Given the description of an element on the screen output the (x, y) to click on. 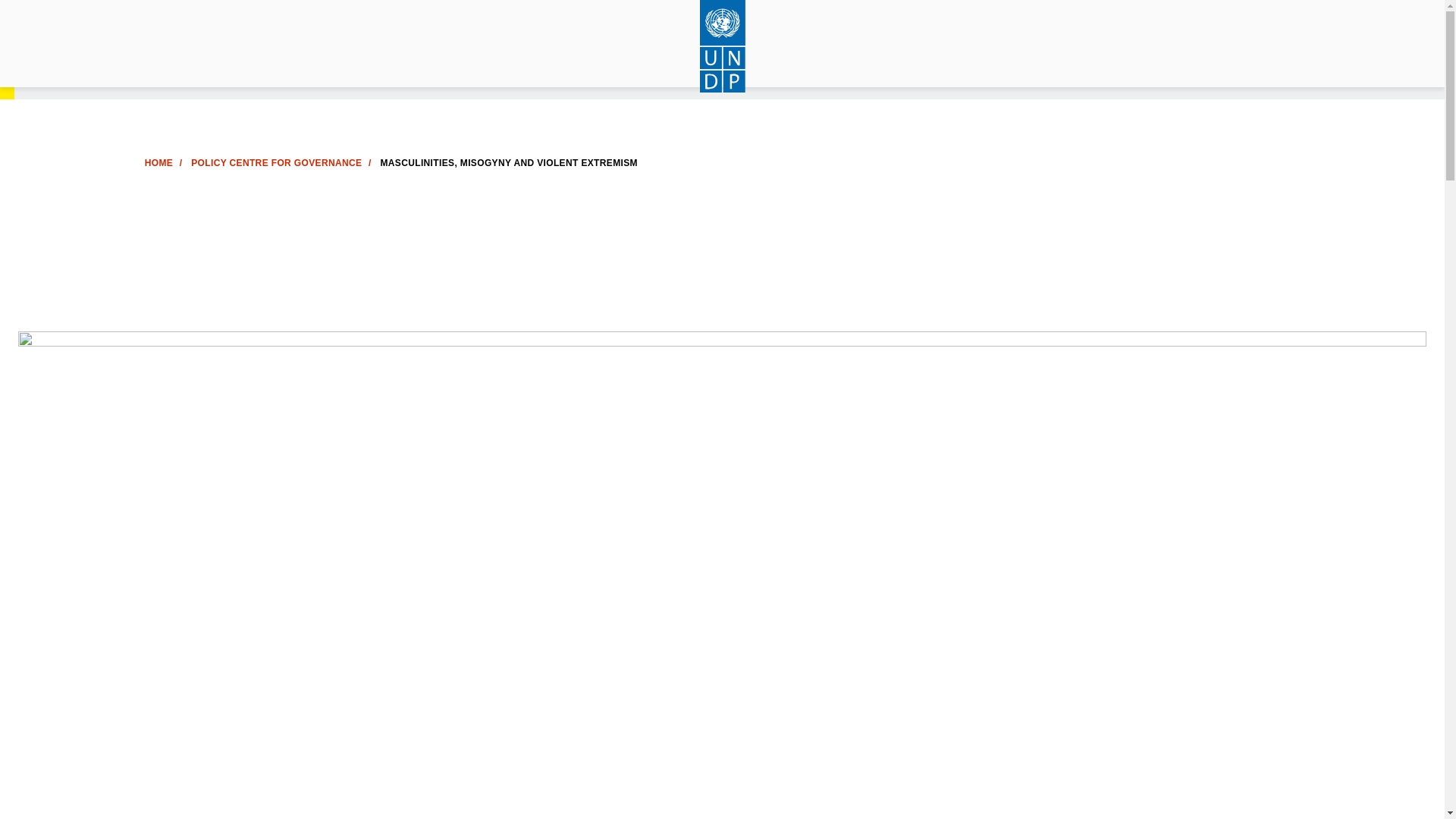
POLICY CENTRE FOR GOVERNANCE (275, 163)
HOME (158, 163)
